Given the description of an element on the screen output the (x, y) to click on. 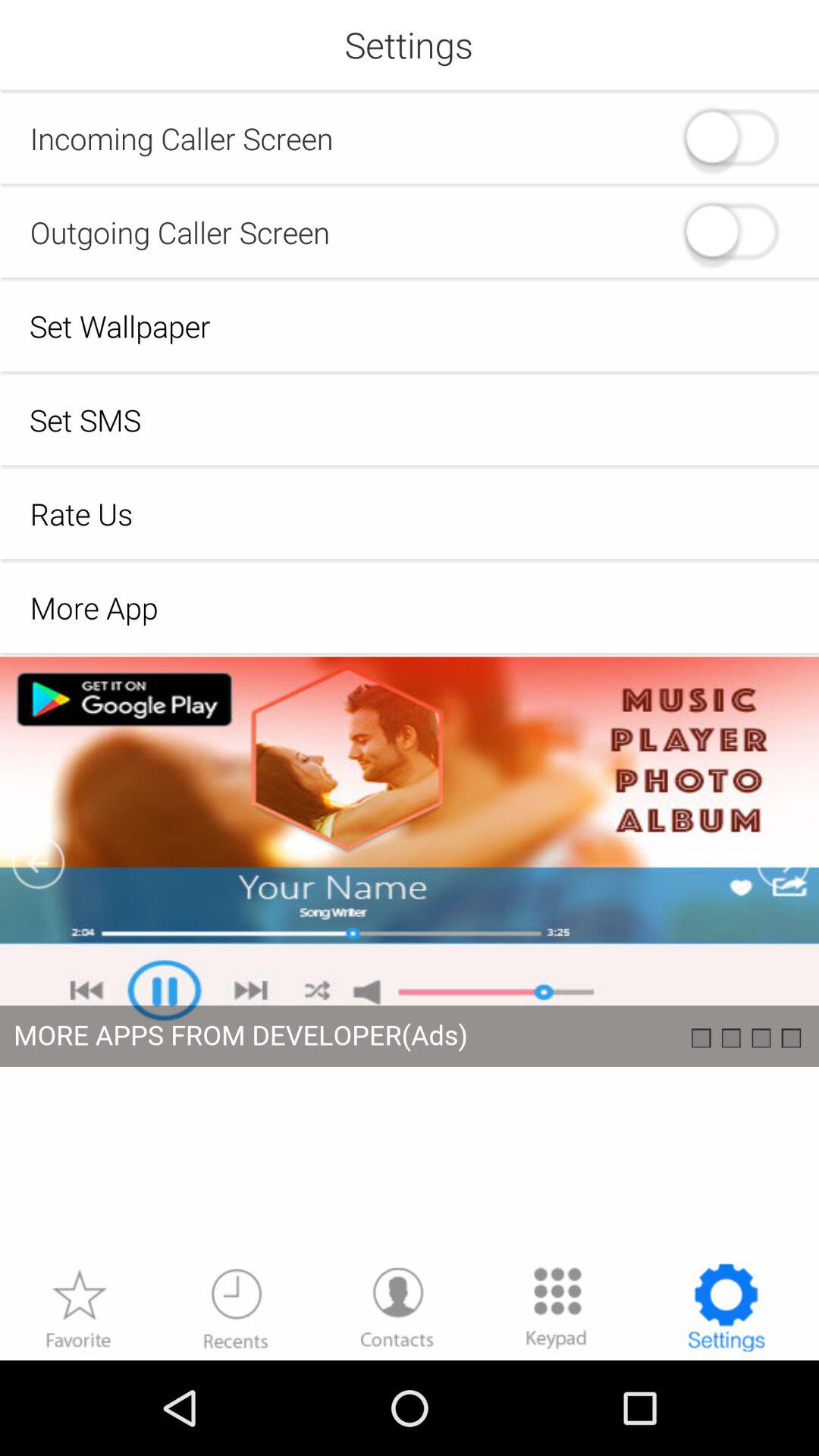
view contacts (397, 1307)
